Given the description of an element on the screen output the (x, y) to click on. 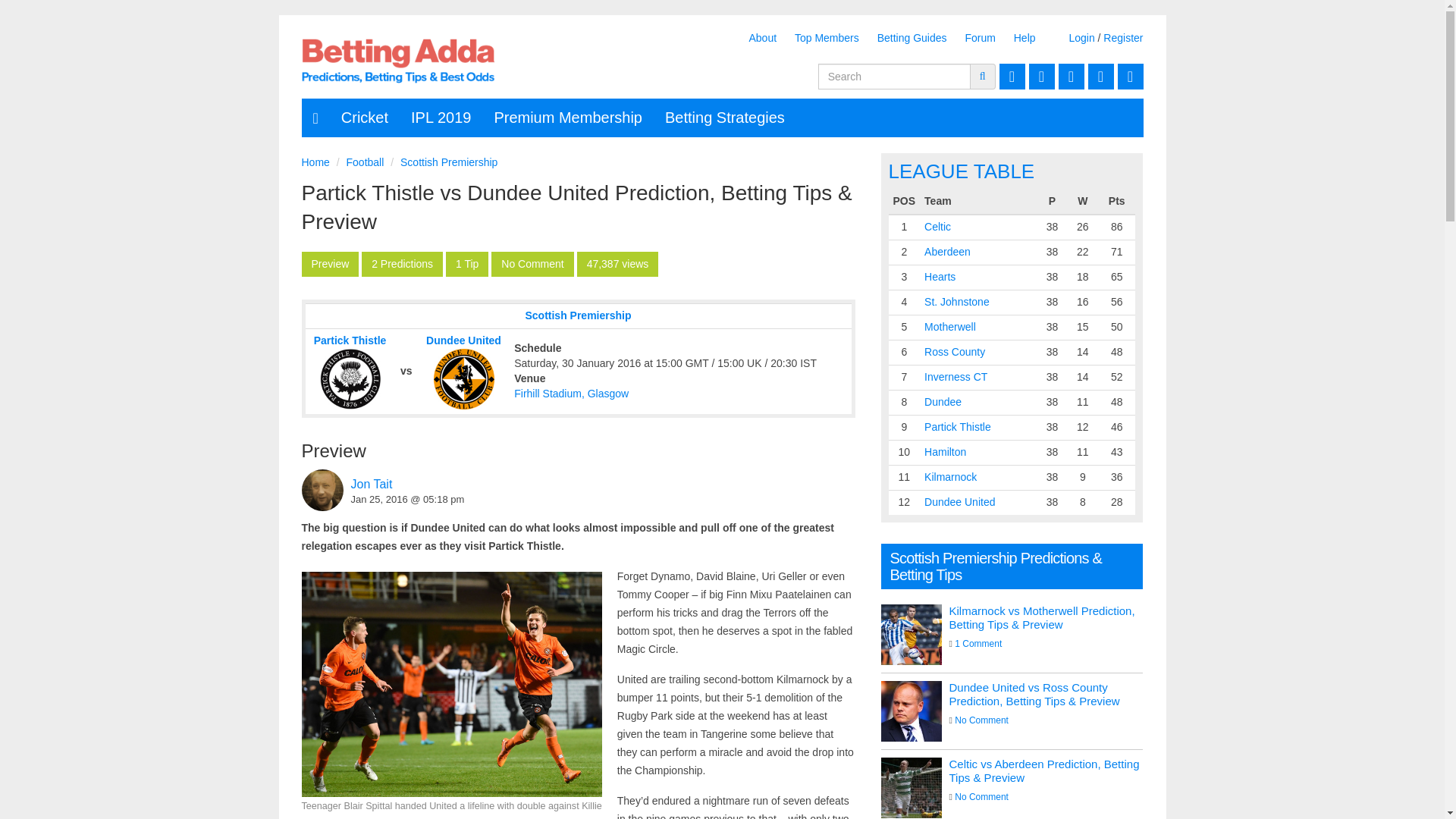
Top Members (826, 37)
Premium Membership (567, 117)
Football (365, 162)
Cricket (364, 117)
Betting Strategies (724, 117)
No Comment (532, 264)
Login (1081, 37)
Like our Facebook page (1127, 76)
Betting Strategies (724, 117)
2 Predictions (401, 264)
Help (1024, 37)
Betting Adda (398, 60)
Home (315, 162)
RSS (1009, 76)
Partick Thistle (350, 340)
